Given the description of an element on the screen output the (x, y) to click on. 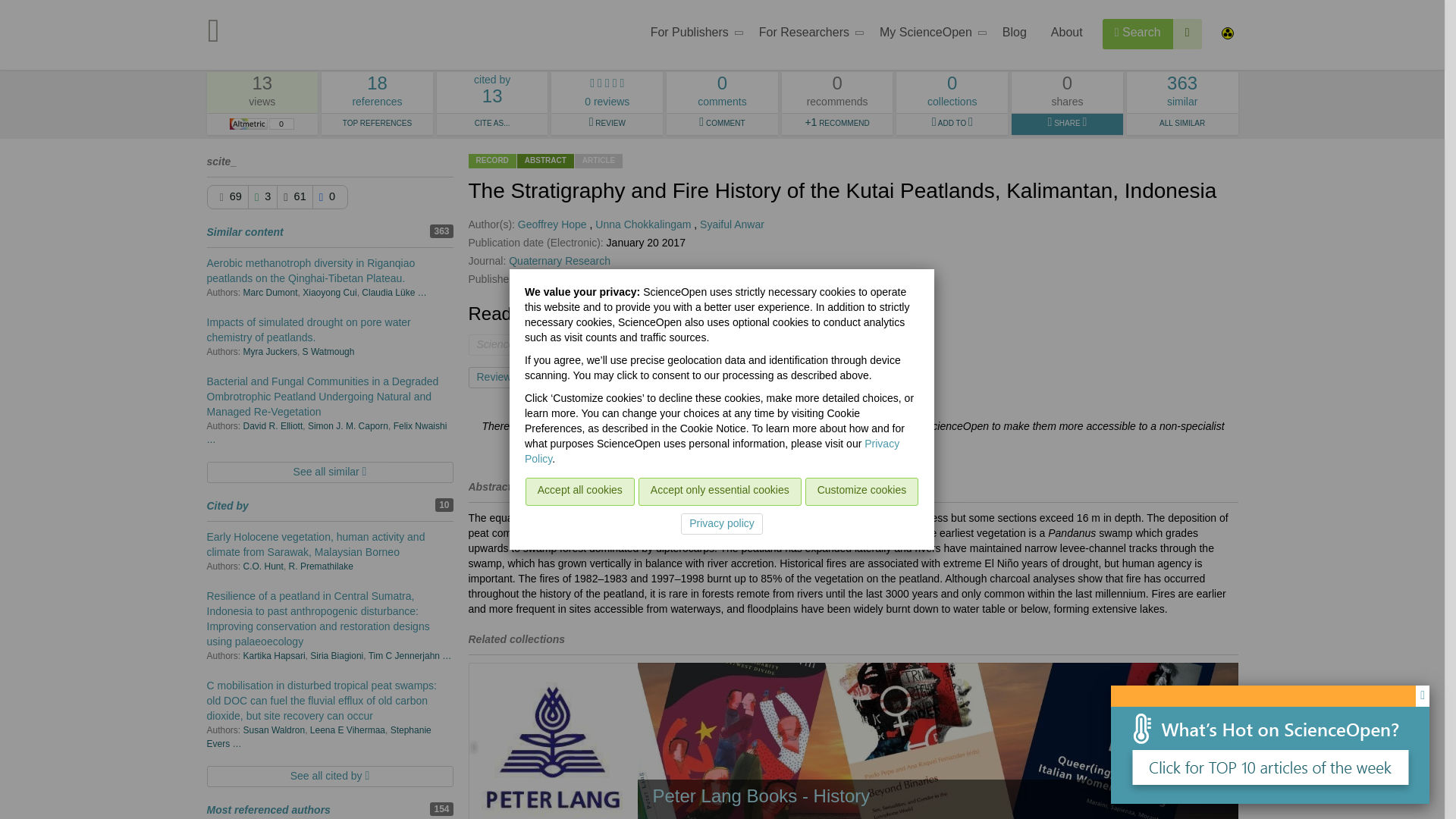
For Publishers (692, 34)
Search (1137, 33)
Advanced search (1187, 33)
My ScienceOpen (376, 92)
Bookmark (928, 34)
For Researchers (569, 377)
